Given the description of an element on the screen output the (x, y) to click on. 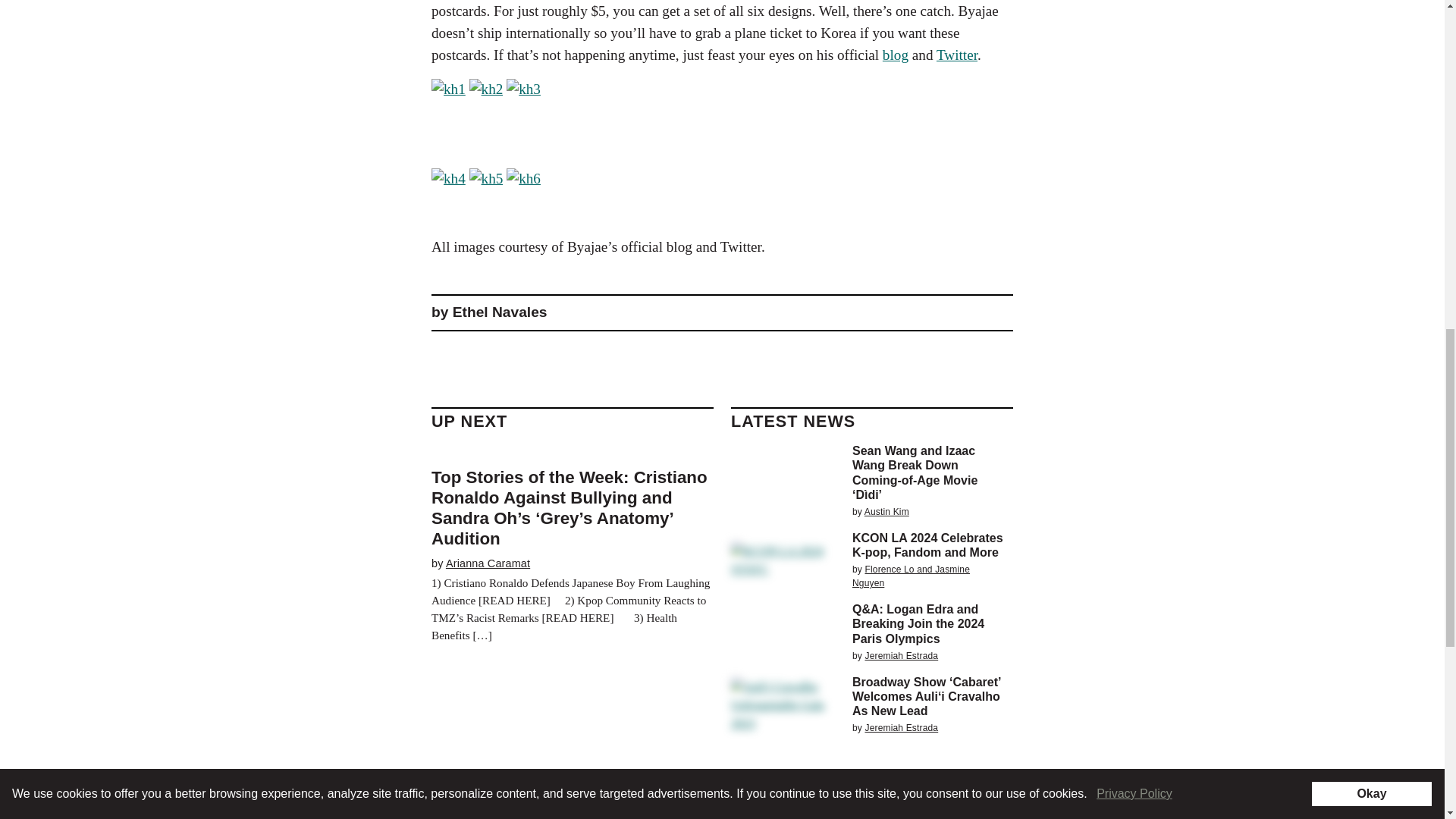
blog (895, 54)
Twitter (956, 54)
